Given the description of an element on the screen output the (x, y) to click on. 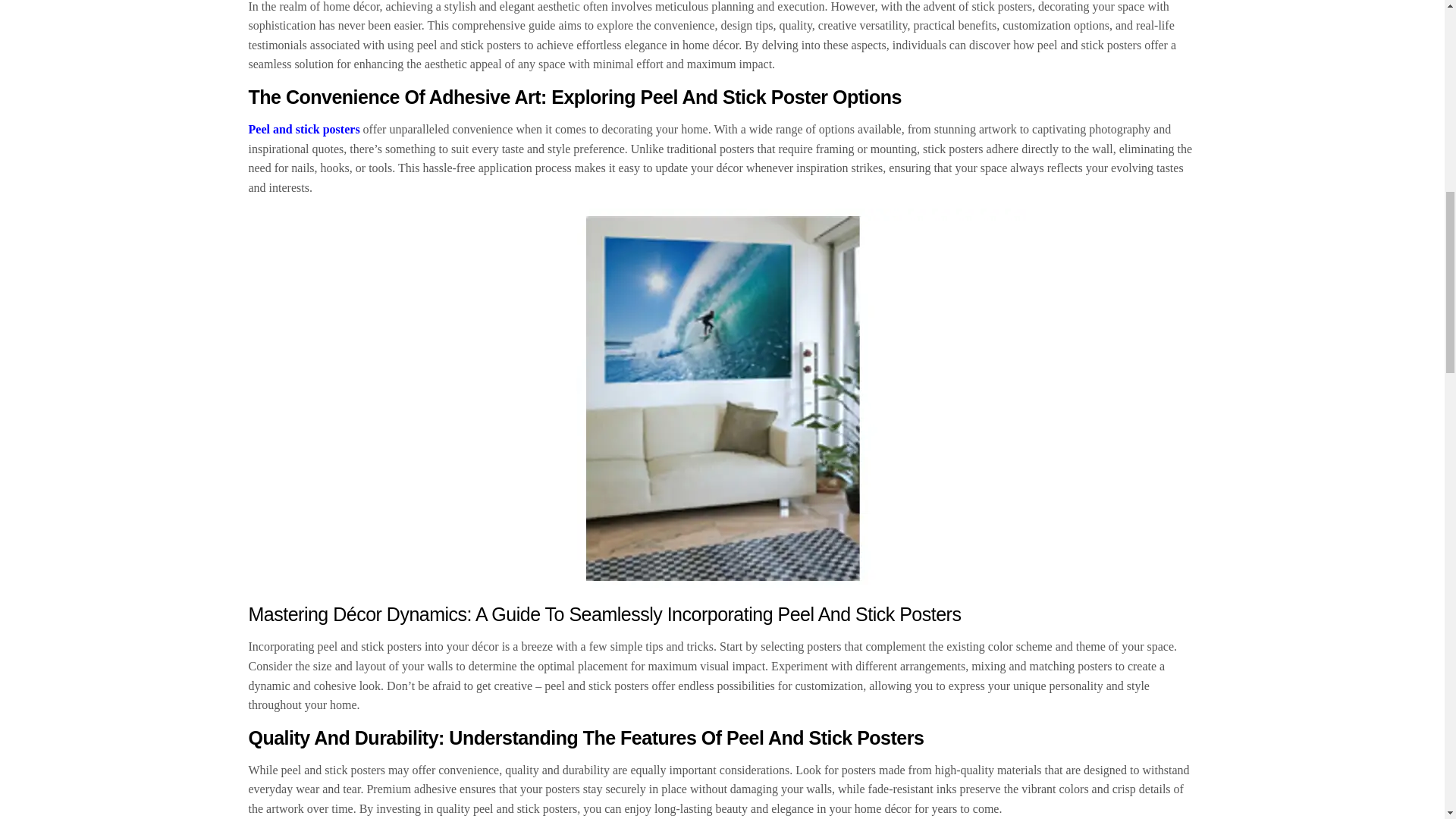
Peel and stick posters (303, 129)
